Given the description of an element on the screen output the (x, y) to click on. 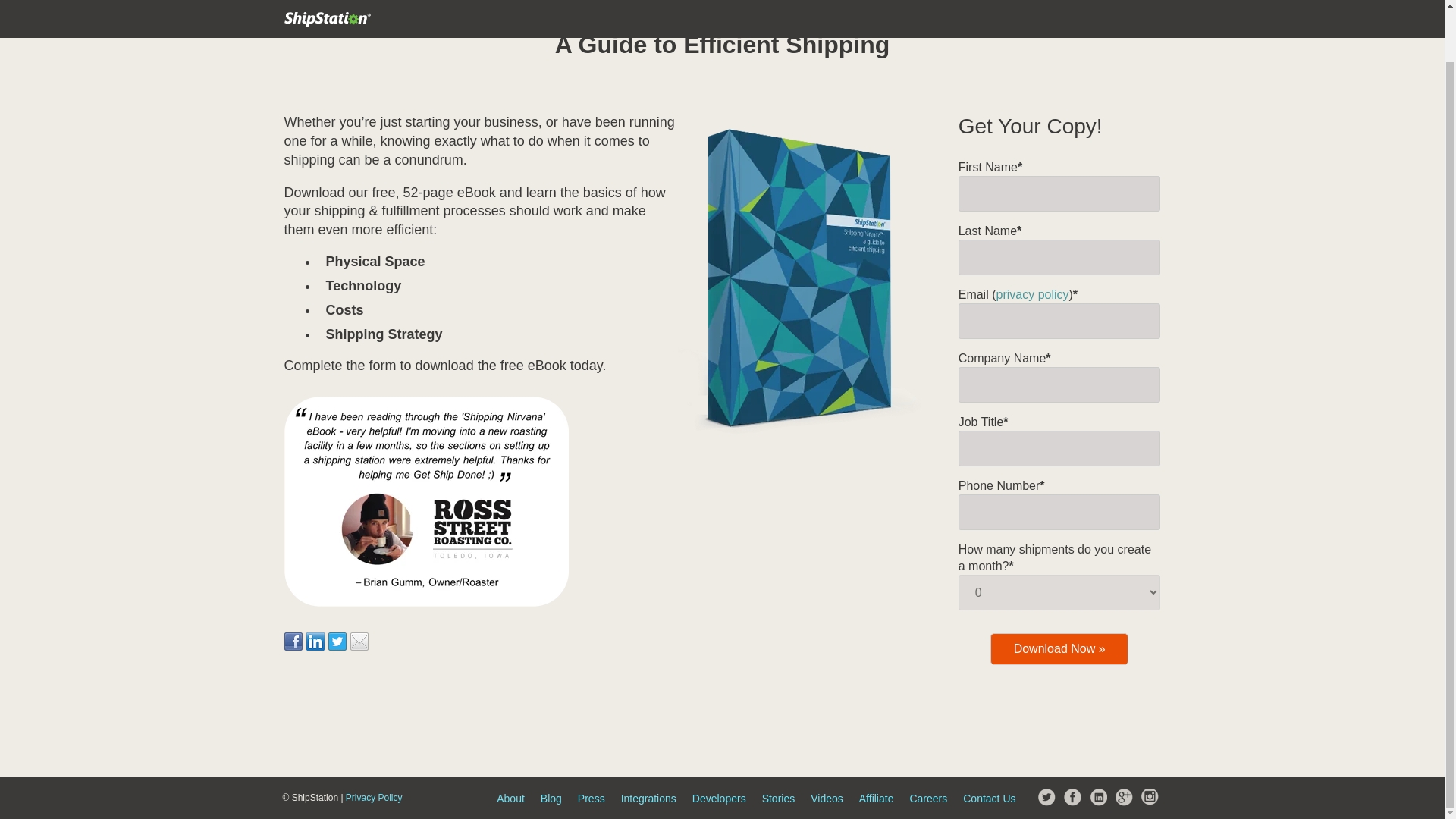
Privacy Policy (374, 797)
Blog (551, 798)
Contact Us (988, 798)
Careers (927, 798)
Integrations (649, 798)
Stories (777, 798)
Developers (719, 798)
Ross Street Roasting Co  - ShipStation Testimonial (425, 501)
Videos (826, 798)
privacy policy (1031, 294)
Affiliate (876, 798)
About (510, 798)
Press (591, 798)
